Given the description of an element on the screen output the (x, y) to click on. 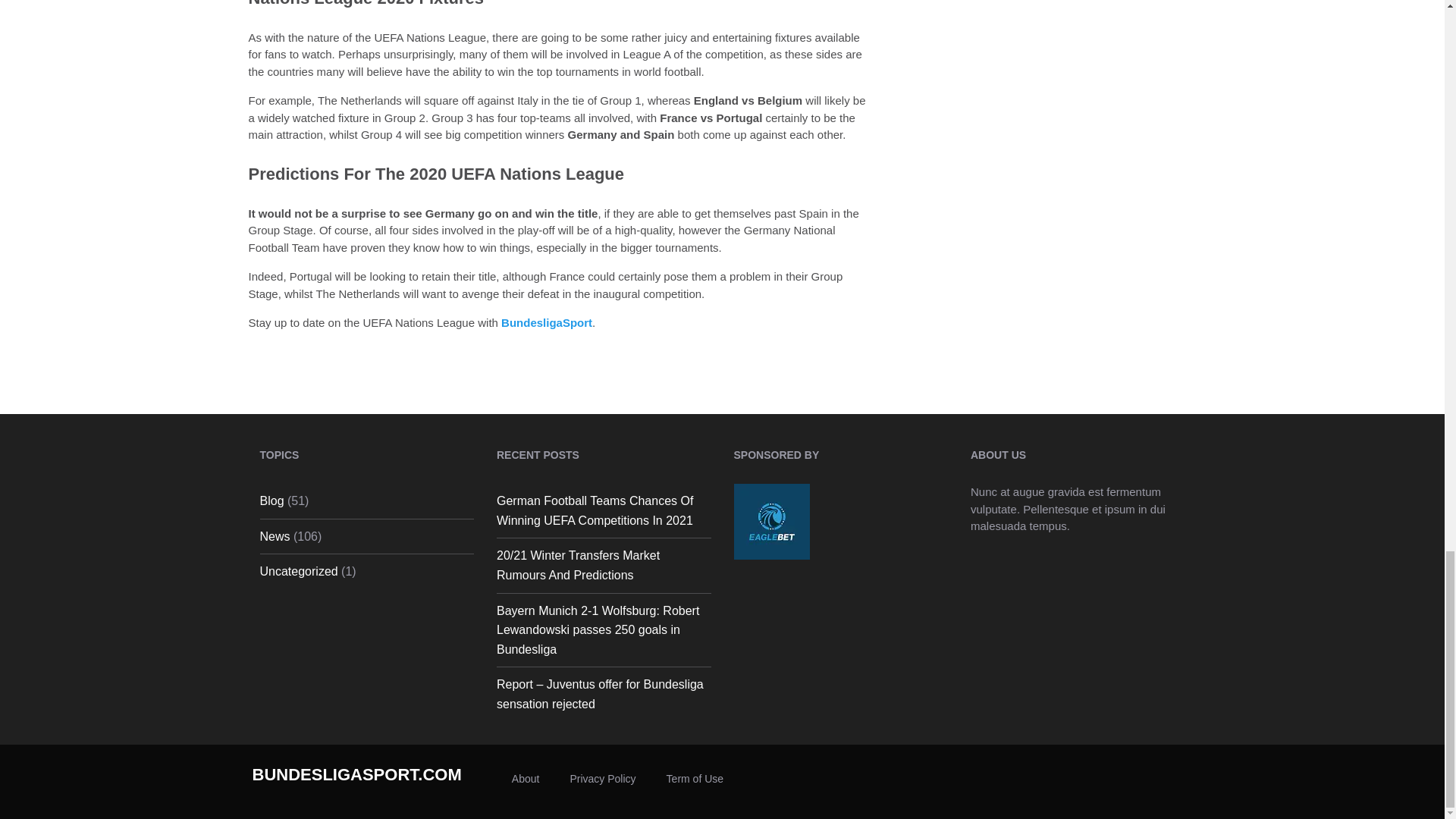
News (274, 535)
BundesligaSport (546, 322)
Blog (271, 500)
